Given the description of an element on the screen output the (x, y) to click on. 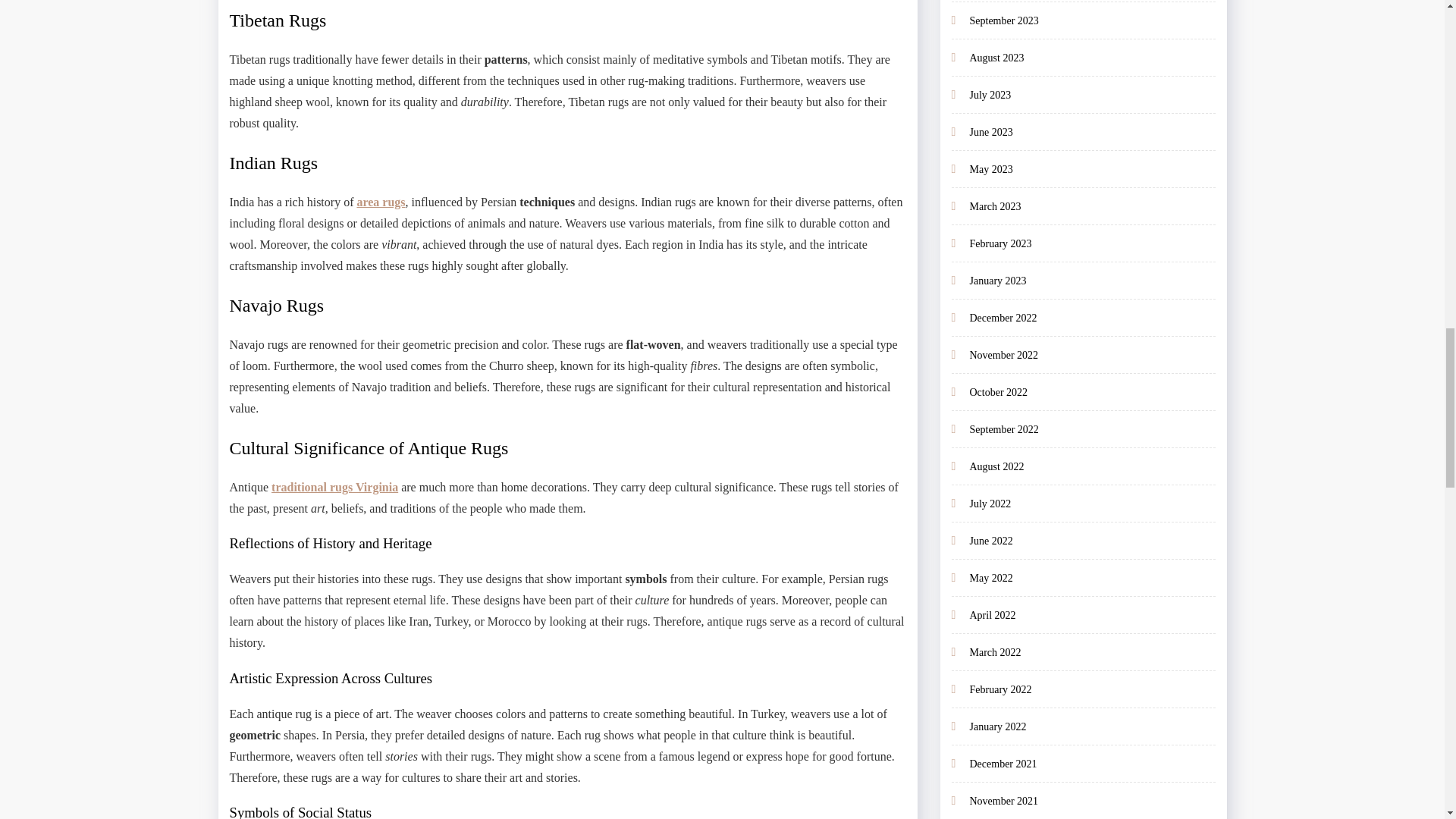
area rugs (380, 201)
traditional rugs Virginia (333, 486)
